Given the description of an element on the screen output the (x, y) to click on. 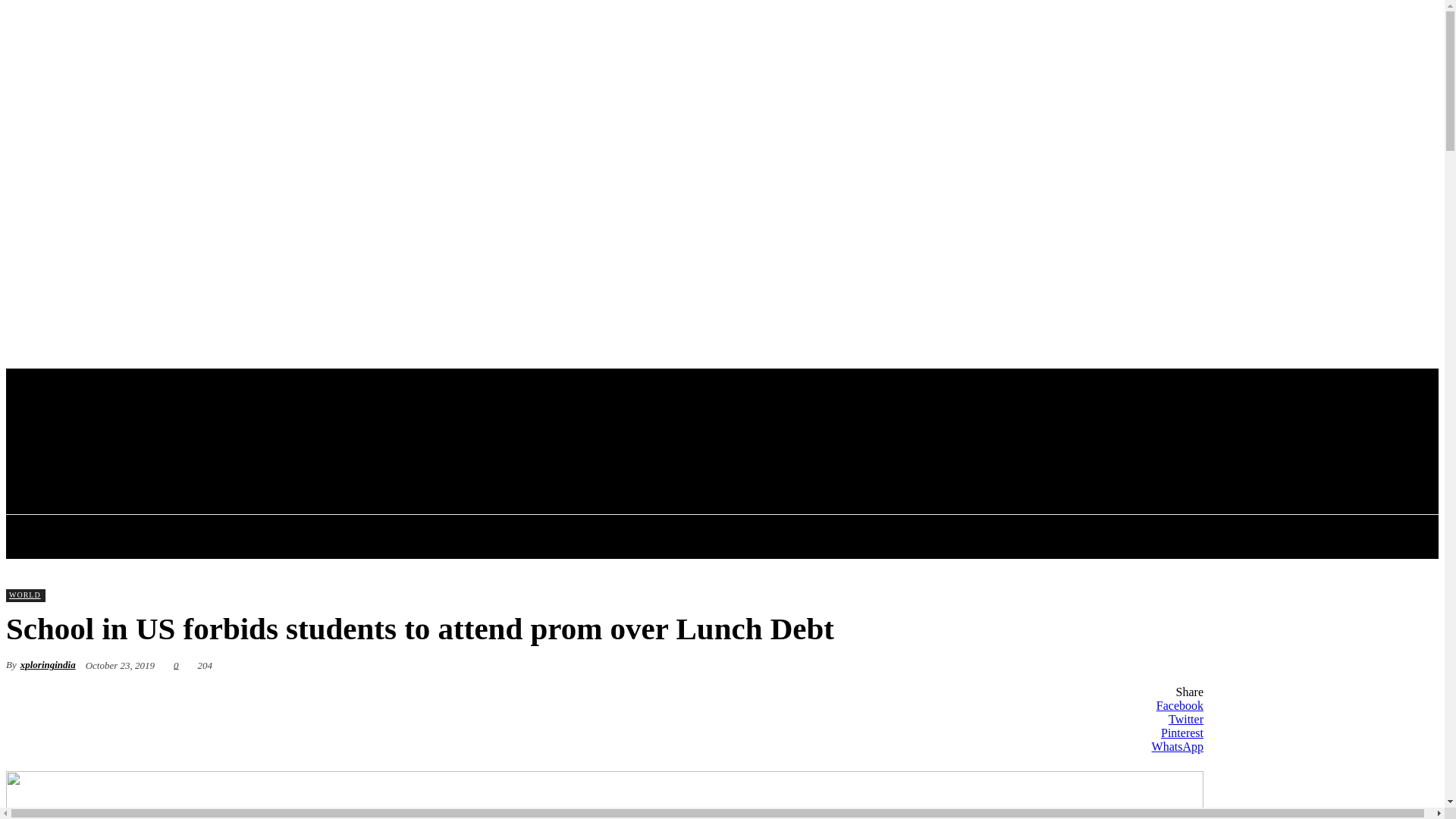
TRENDING (340, 536)
MORE (1218, 536)
VISUAL STORIES (1112, 536)
HOME (253, 536)
Twitter (604, 719)
FINANCE (531, 536)
GUEST POST (992, 536)
LAW (828, 536)
WORLD (617, 536)
GAMES (899, 536)
Pinterest (604, 733)
ENTERTAINMENT (727, 536)
NATIONAL (438, 536)
